Given the description of an element on the screen output the (x, y) to click on. 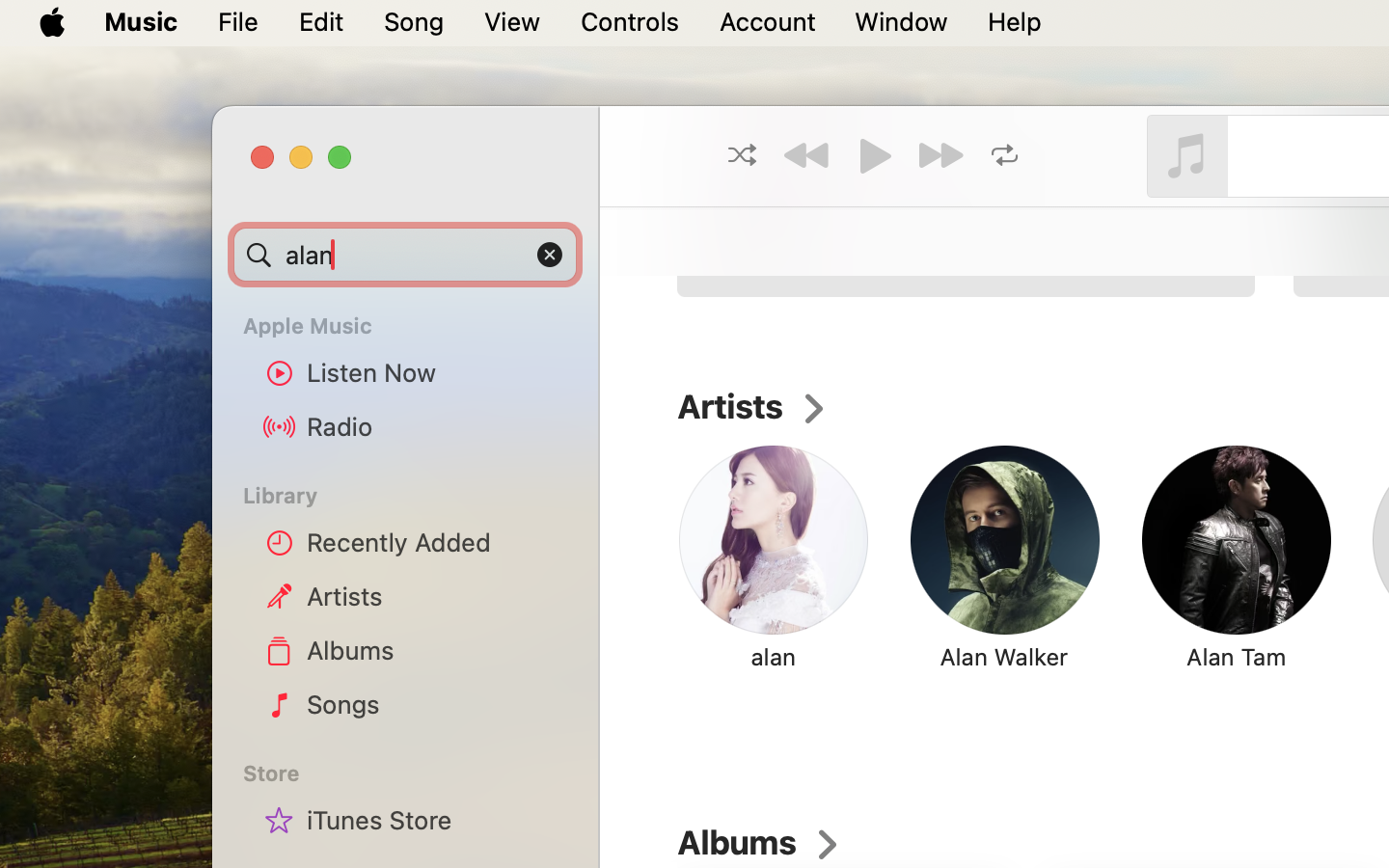
alan Element type: AXTextField (404, 254)
